Given the description of an element on the screen output the (x, y) to click on. 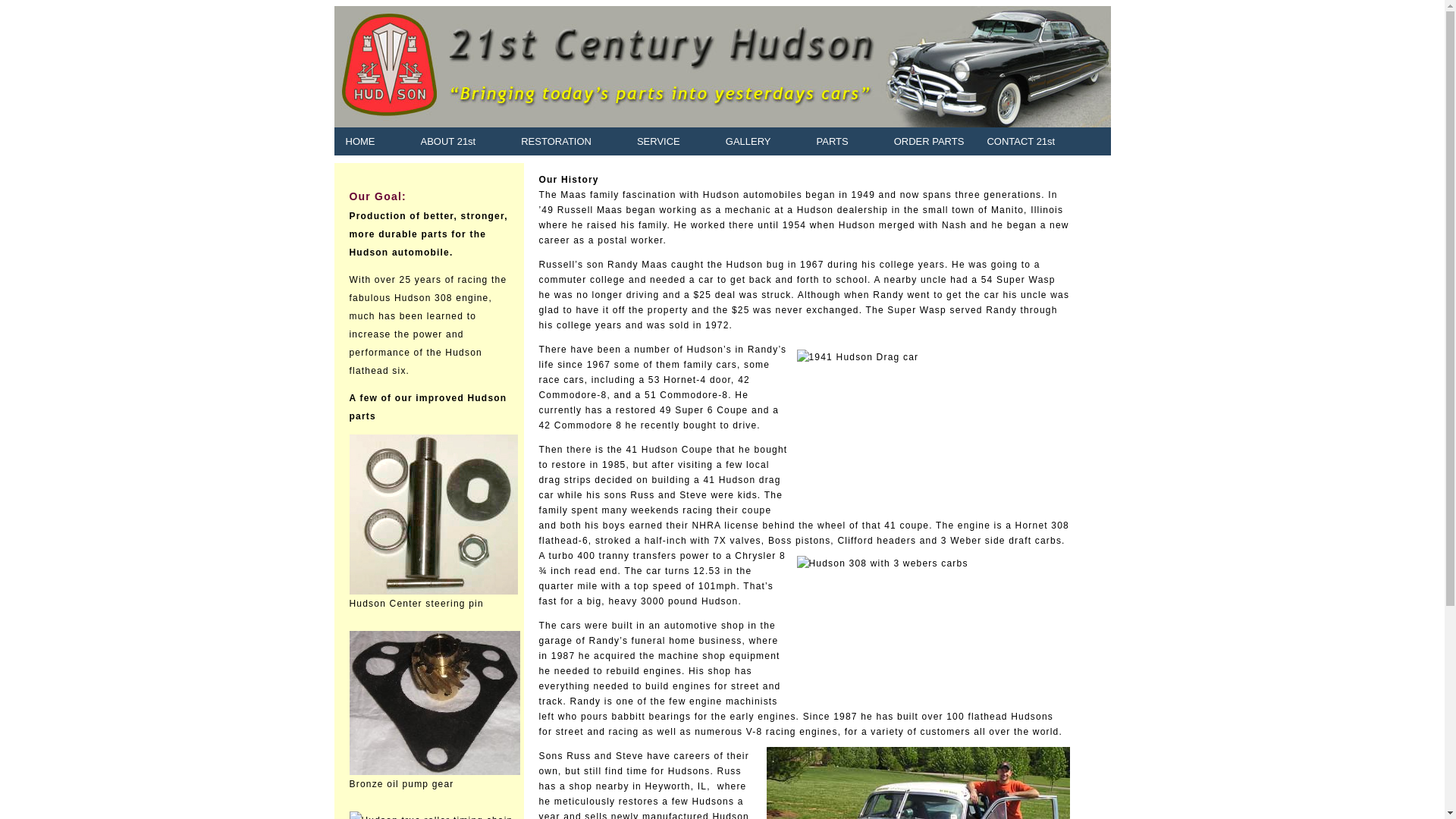
SERVICE Element type: text (658, 141)
RESTORATION Element type: text (555, 141)
CONTACT 21st Element type: text (1020, 141)
HOME Element type: text (359, 141)
GALLERY Element type: text (748, 141)
PARTS Element type: text (832, 141)
ORDER PARTS Element type: text (928, 141)
ABOUT 21st Element type: text (448, 141)
